Given the description of an element on the screen output the (x, y) to click on. 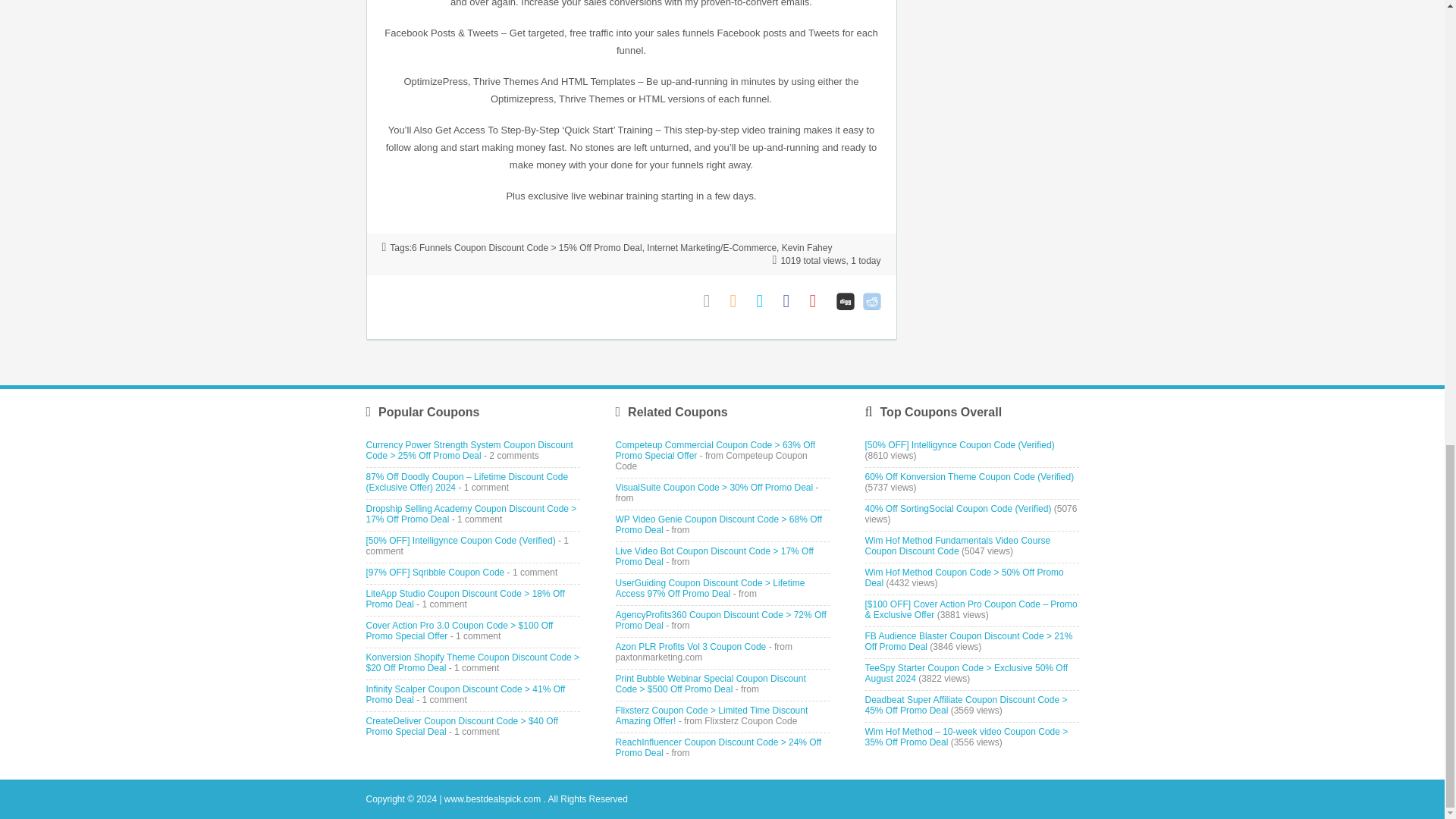
Twitter (765, 301)
Digg (844, 301)
Kevin Fahey (806, 247)
Pinterest (818, 301)
Facebook (791, 301)
Coupon Comments RSS (738, 301)
Reddit (871, 301)
Email to Friend (712, 301)
